Given the description of an element on the screen output the (x, y) to click on. 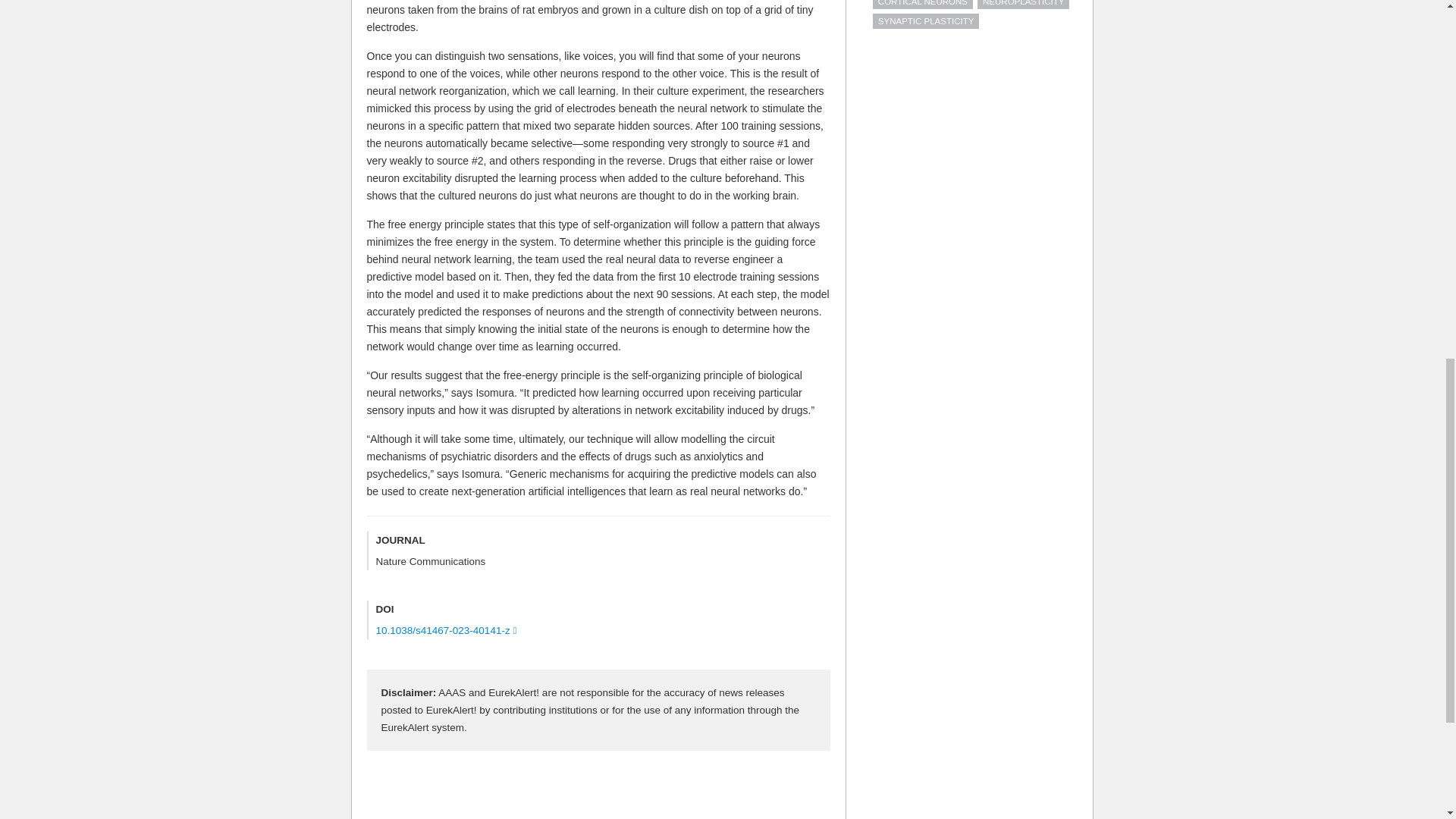
CORTICAL NEURONS (922, 4)
NEUROPLASTICITY (1022, 4)
